Given the description of an element on the screen output the (x, y) to click on. 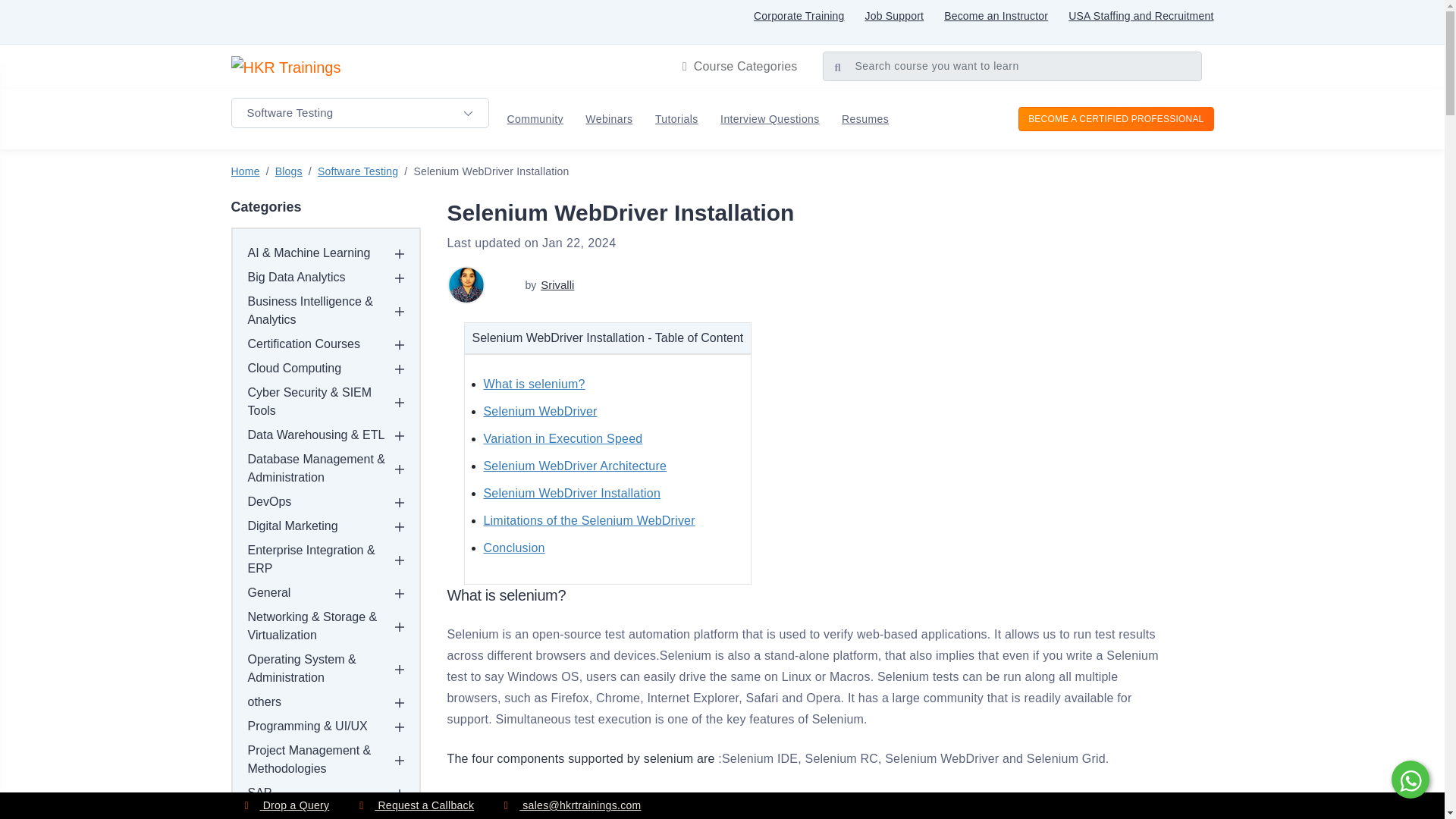
Job Support (893, 15)
Course Categories (739, 66)
USA Staffing and Recruitment (1140, 15)
Corporate Training (799, 15)
How can we help you? (1408, 779)
Become an Instructor (995, 15)
